Given the description of an element on the screen output the (x, y) to click on. 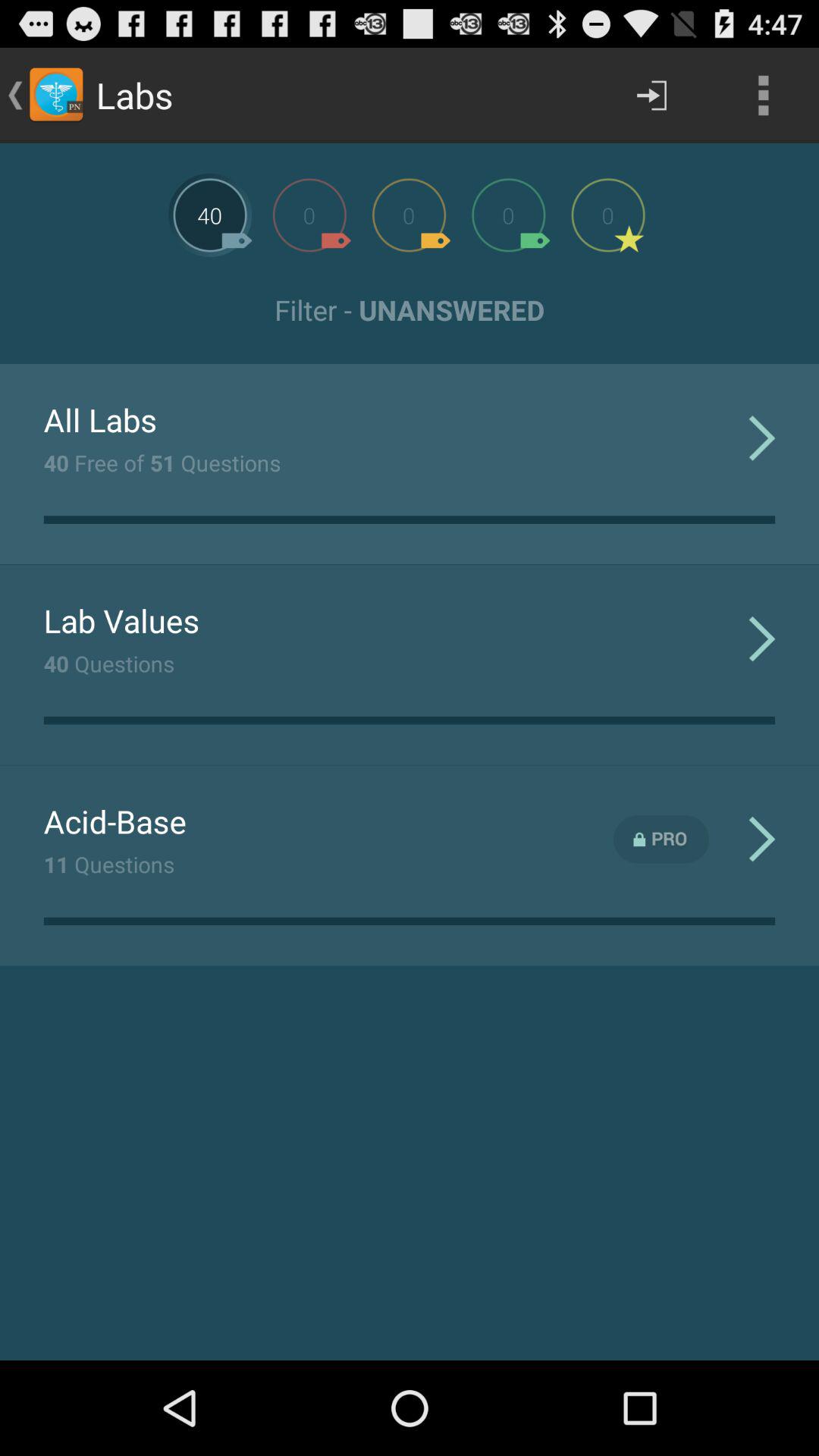
unlock pro edition (661, 839)
